Given the description of an element on the screen output the (x, y) to click on. 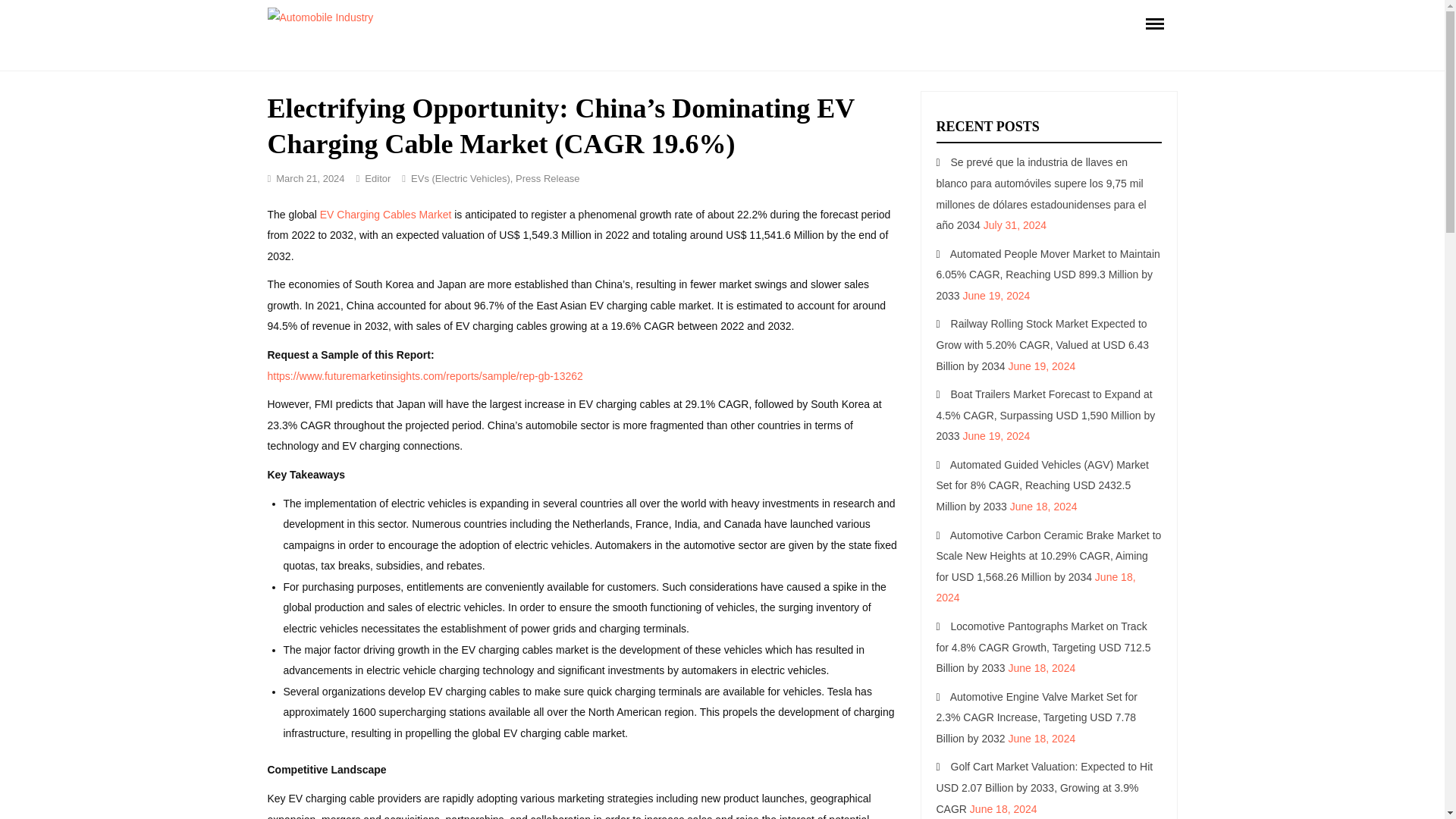
Menu (1153, 22)
Press Release (547, 178)
EV Charging Cables Market (385, 214)
March 21, 2024 (309, 178)
Editor (377, 178)
